Given the description of an element on the screen output the (x, y) to click on. 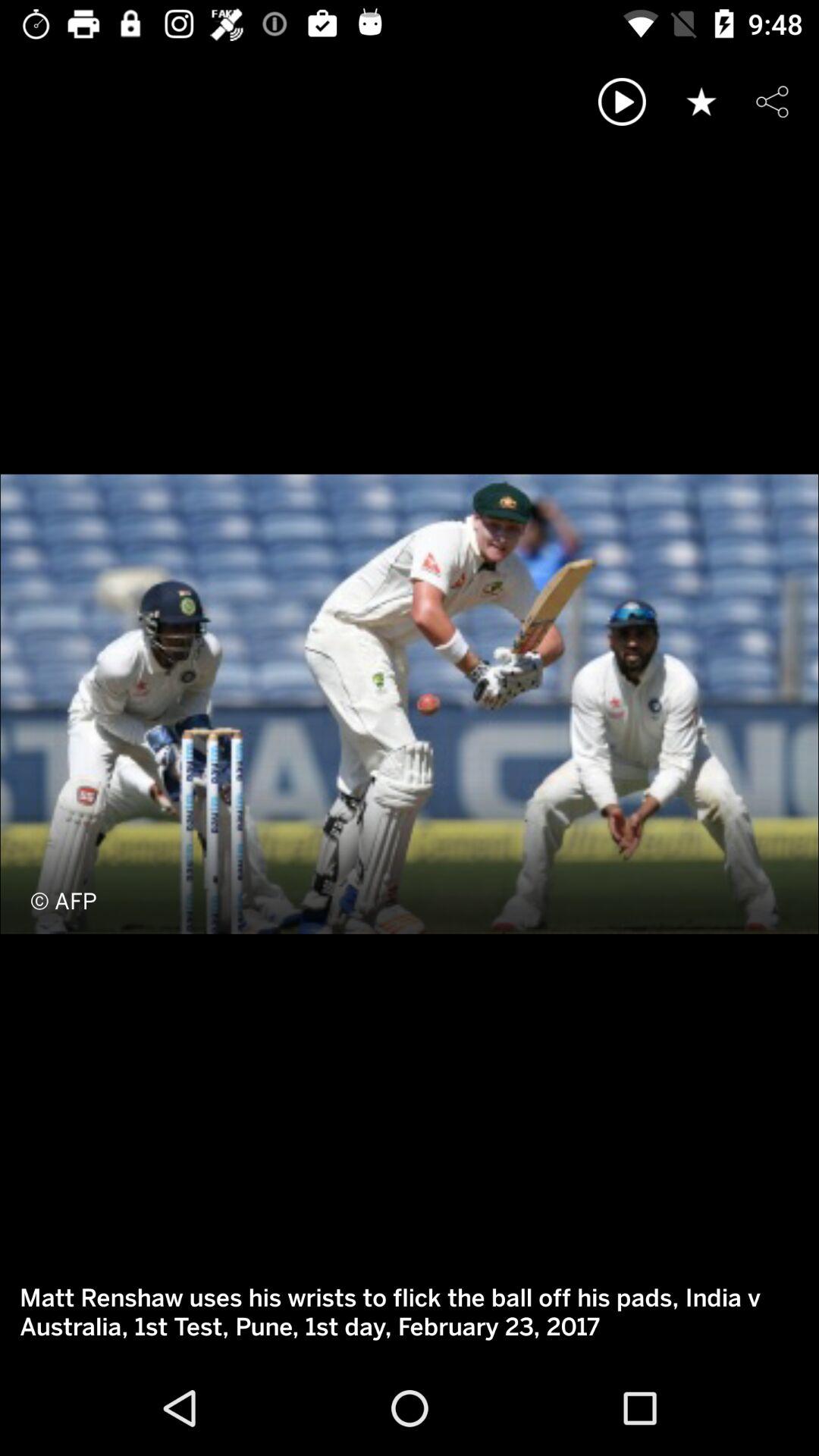
add to favorites (701, 101)
